Given the description of an element on the screen output the (x, y) to click on. 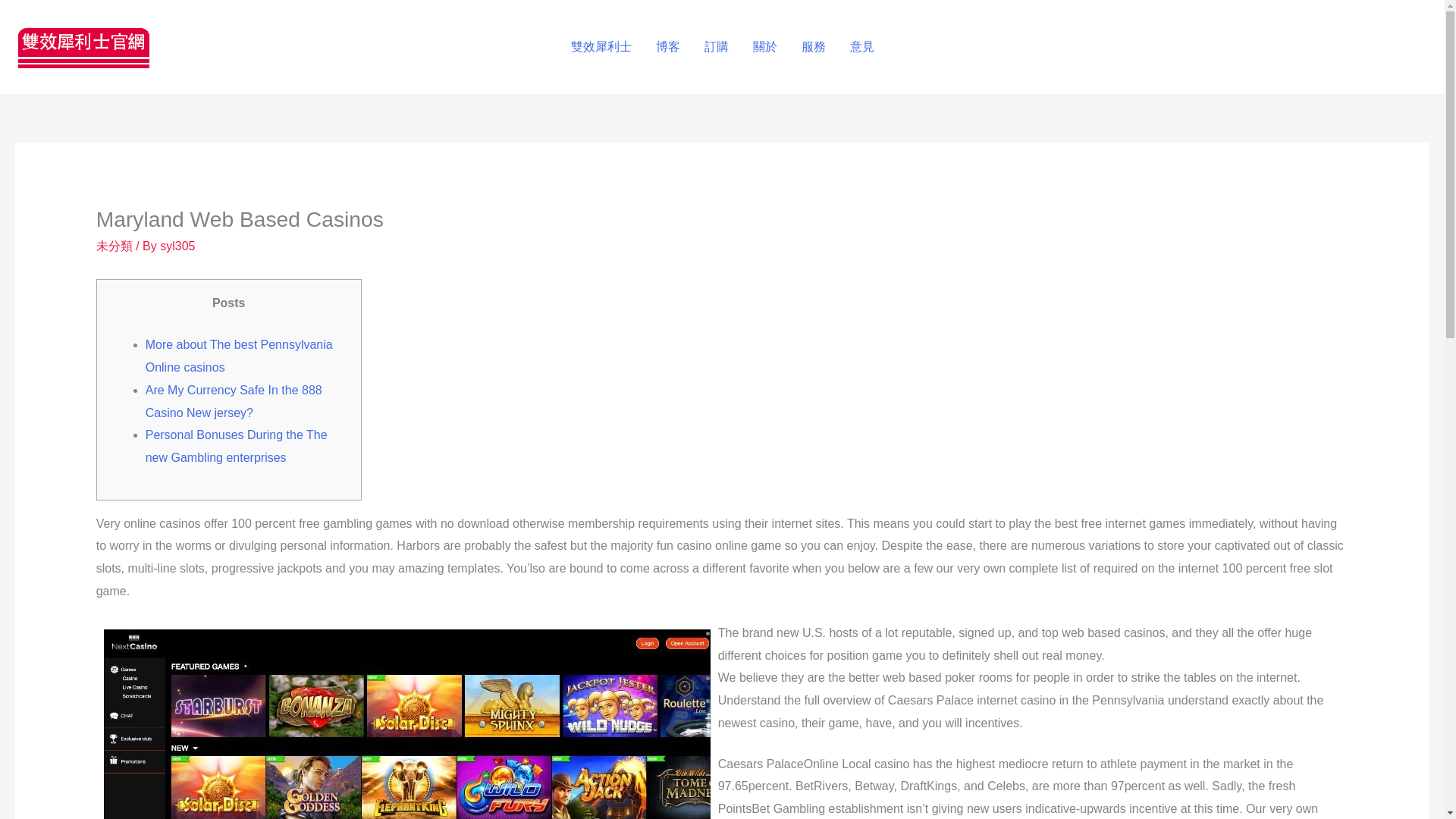
View all posts by syl305 (177, 245)
Are My Currency Safe In the 888 Casino New jersey? (233, 401)
Personal Bonuses During the The new Gambling enterprises (236, 446)
More about The best Pennsylvania Online casinos (239, 355)
syl305 (177, 245)
